Given the description of an element on the screen output the (x, y) to click on. 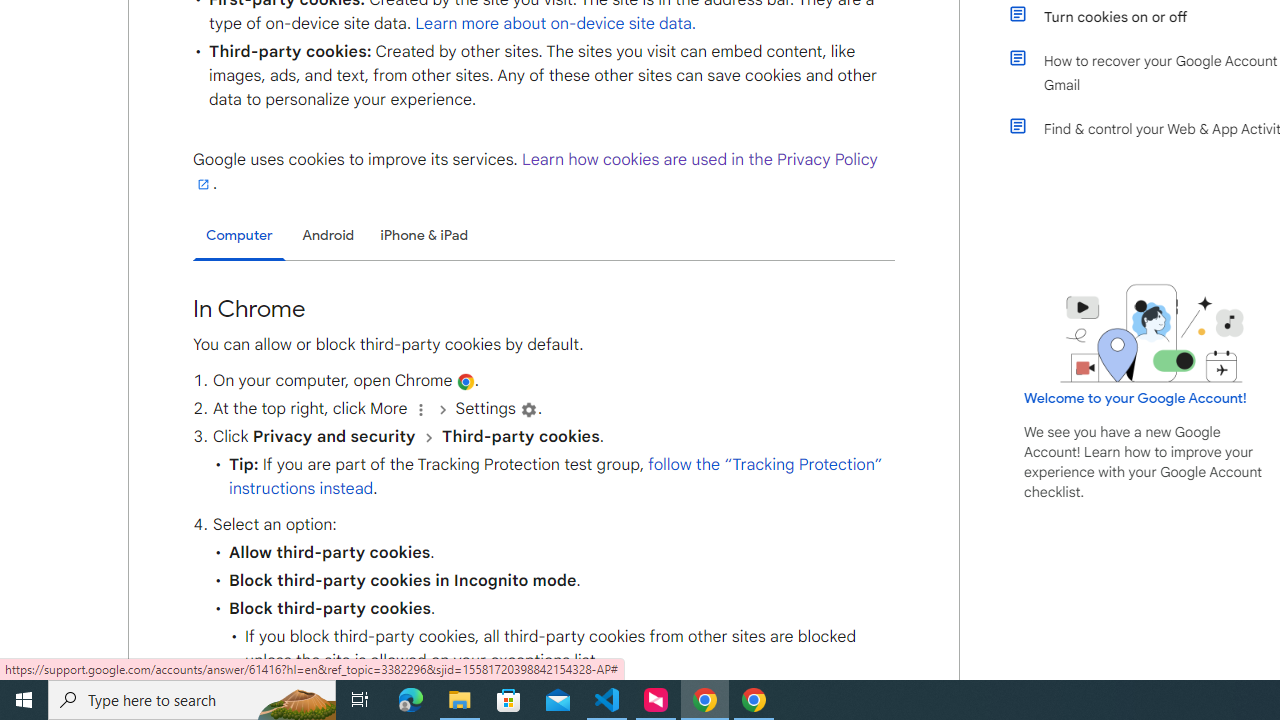
Settings (528, 409)
and then (427, 437)
Computer (239, 235)
Welcome to your Google Account! (1135, 397)
Learning Center home page image (1152, 333)
Learn how cookies are used in the Privacy Policy (535, 171)
Learn more about on-device site data. (555, 23)
iPhone & iPad (424, 235)
More (420, 409)
Android (328, 235)
